Given the description of an element on the screen output the (x, y) to click on. 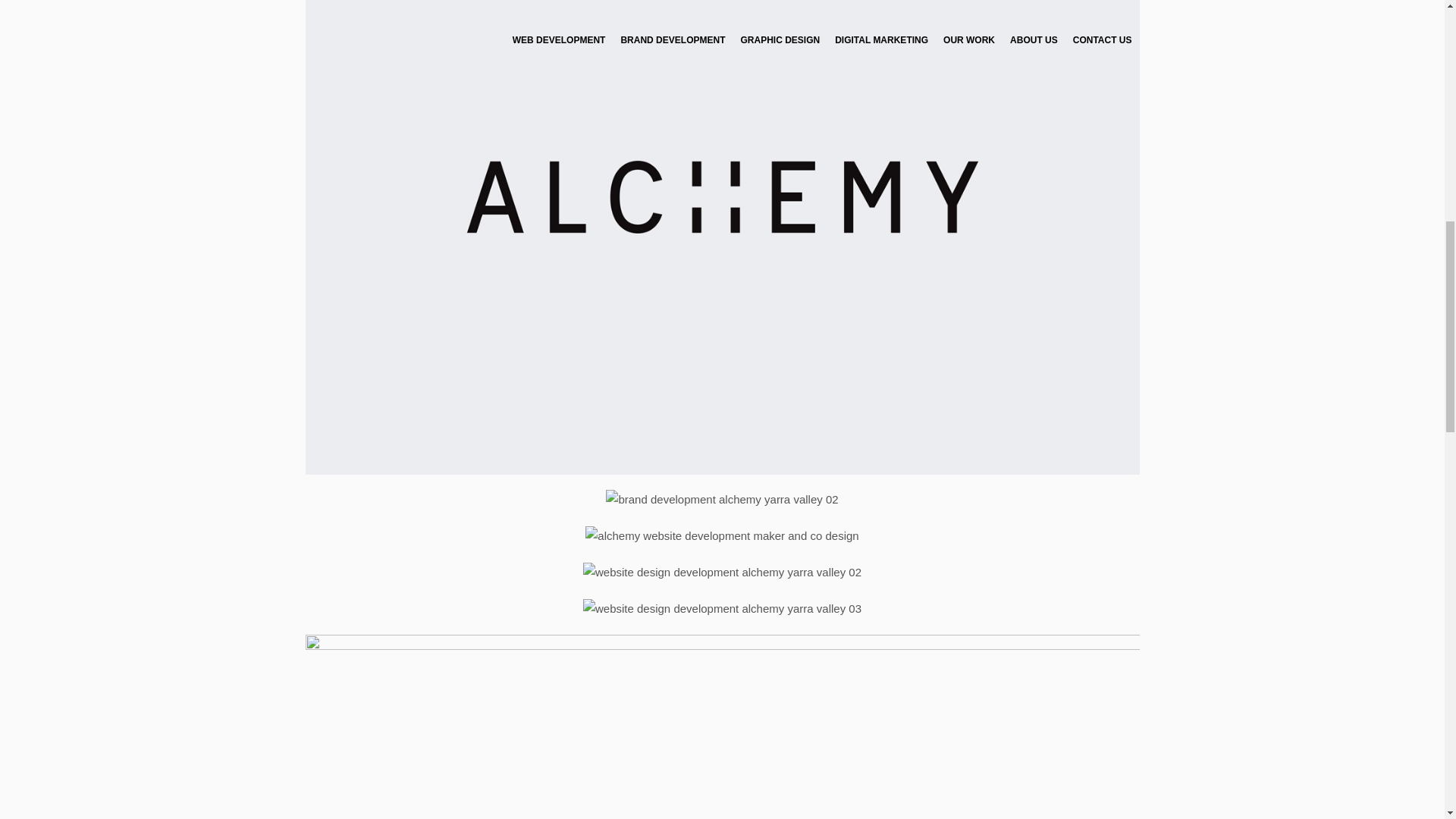
alchemy website development maker and co design (722, 536)
website design development alchemy yarra valley 03 (722, 608)
website design development alchemy yarra valley 02 (722, 572)
brand development alchemy yarra valley 02 (721, 499)
